Given the description of an element on the screen output the (x, y) to click on. 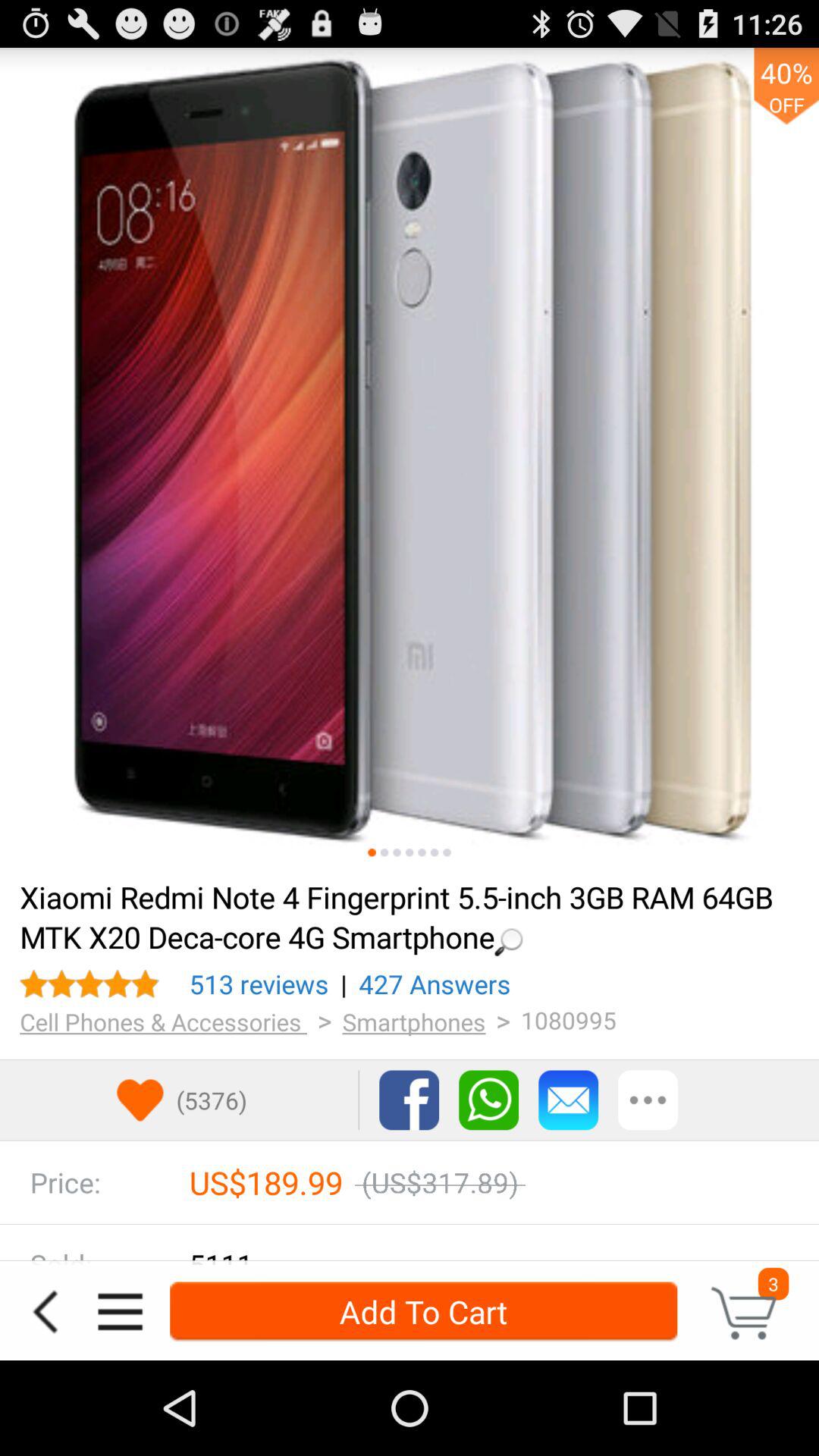
turn off app below 513 reviews app (163, 1021)
